Given the description of an element on the screen output the (x, y) to click on. 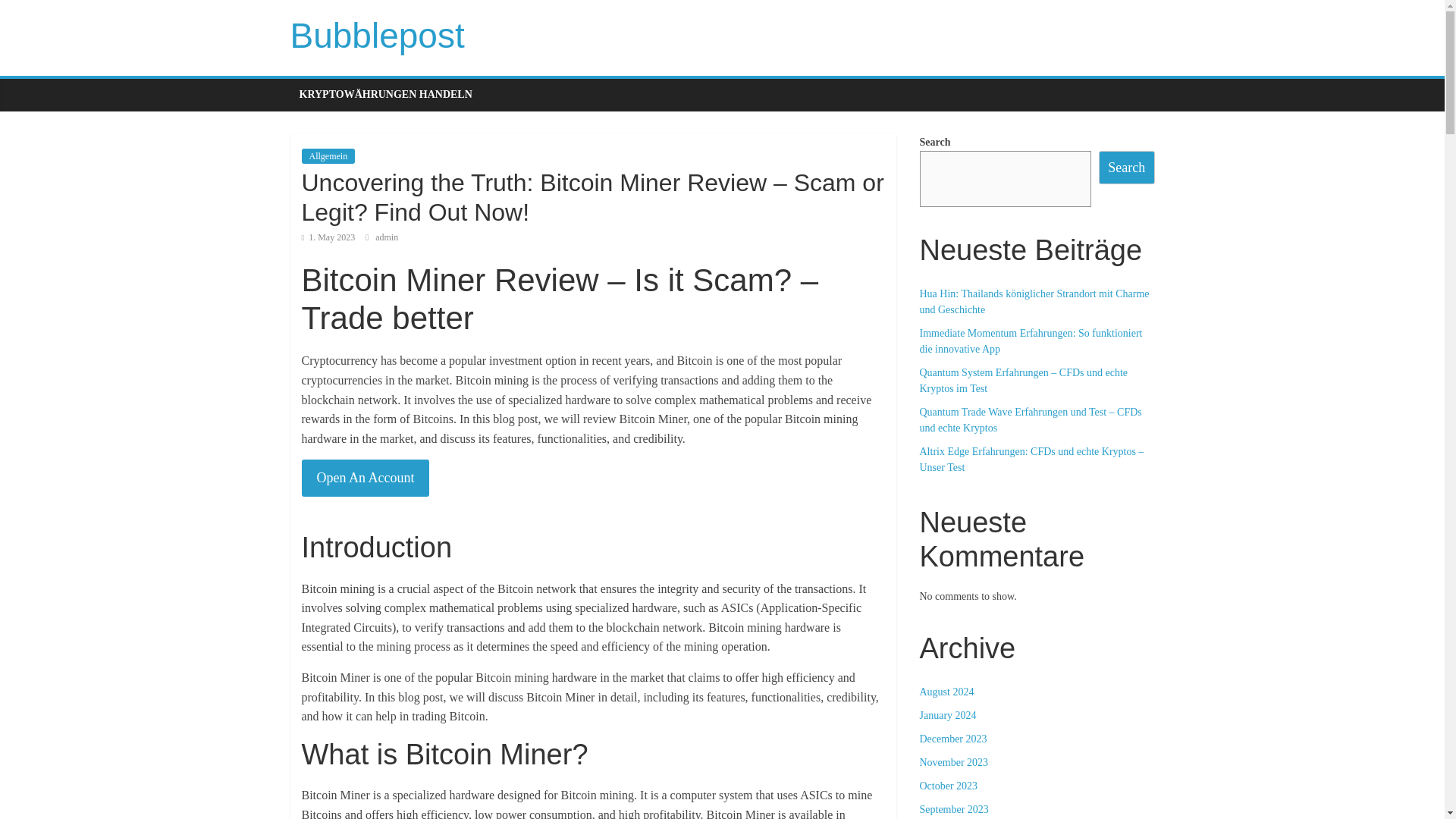
November 2023 (953, 762)
Open An Account (365, 477)
Bubblepost (376, 35)
December 2023 (952, 738)
admin (386, 236)
admin (386, 236)
Search (1126, 167)
January 2024 (946, 715)
September 2023 (953, 808)
Allgemein (328, 155)
